Given the description of an element on the screen output the (x, y) to click on. 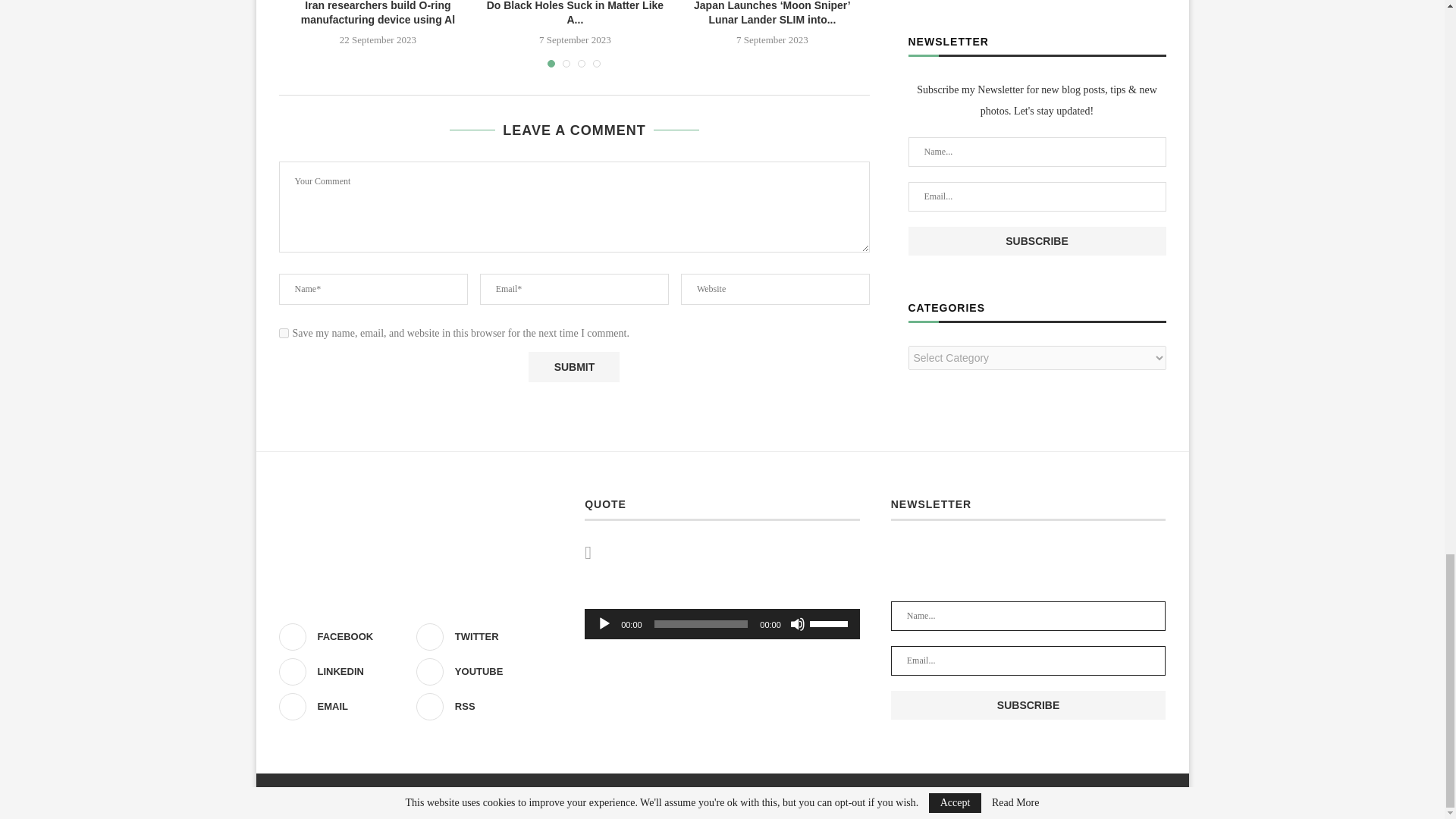
Subscribe (1037, 240)
yes (283, 333)
Submit (574, 367)
Subscribe (1028, 705)
